Given the description of an element on the screen output the (x, y) to click on. 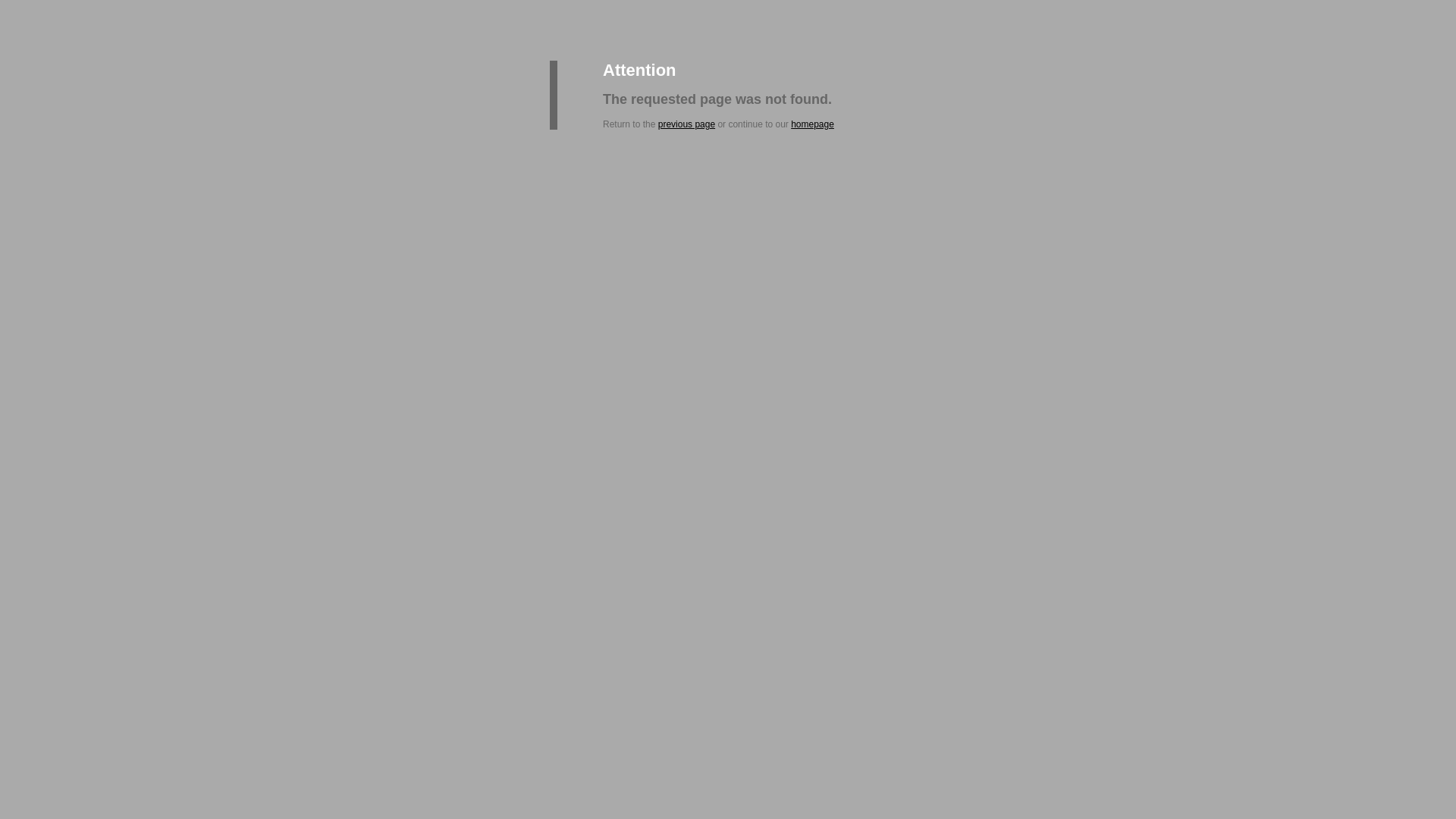
previous page Element type: text (686, 124)
homepage Element type: text (812, 124)
